Given the description of an element on the screen output the (x, y) to click on. 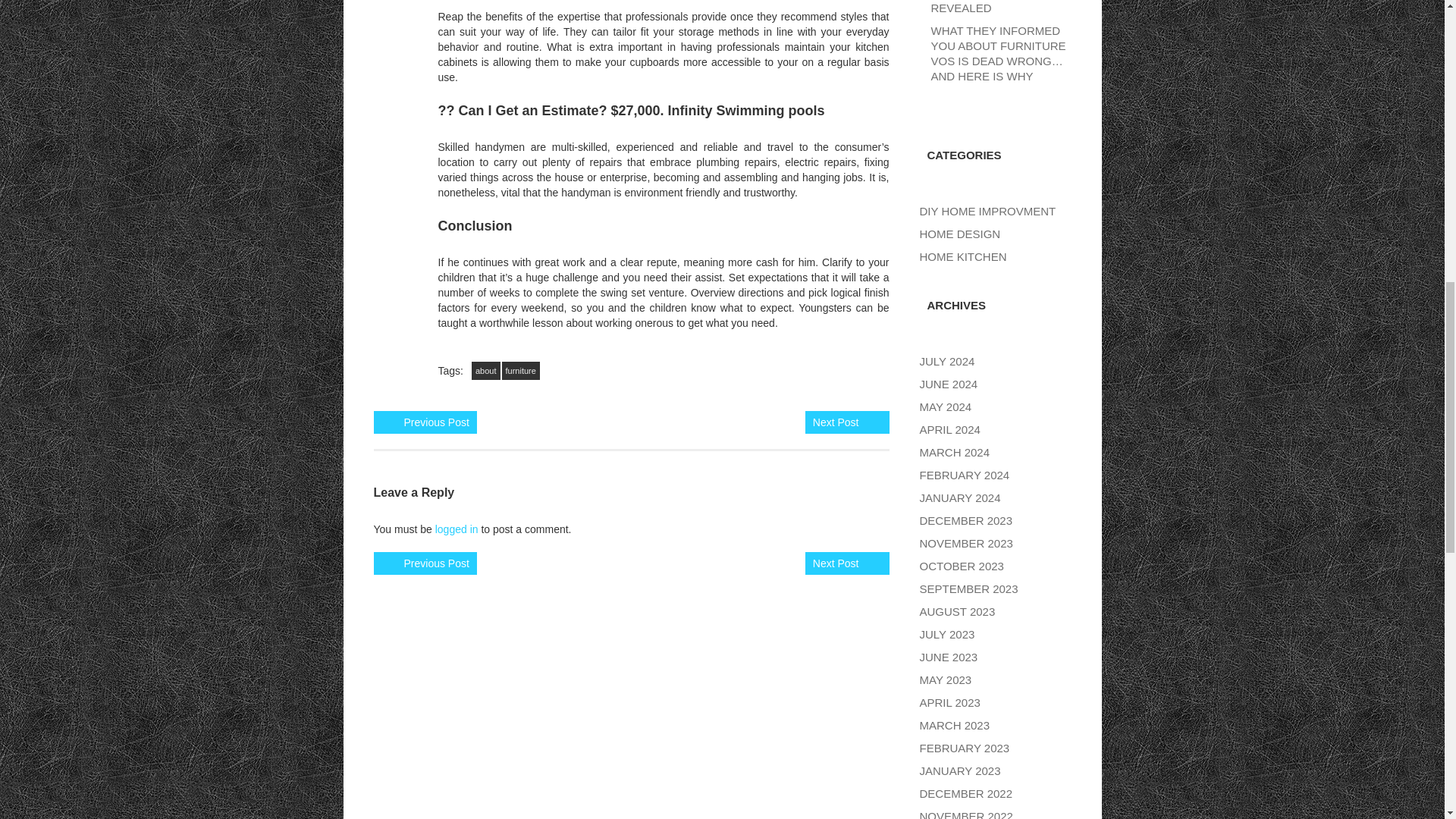
Previous Post (436, 563)
Next Post (835, 563)
HOME DESIGN (959, 233)
MAY 2024 (944, 406)
HOME KITCHEN (962, 256)
JANUARY 2024 (959, 497)
Next Post (835, 422)
OCTOBER 2023 (960, 565)
MARCH 2024 (954, 451)
Previous Post (436, 422)
DECEMBER 2023 (964, 520)
about (485, 370)
JUNE 2024 (947, 383)
JULY 2024 (946, 360)
